Given the description of an element on the screen output the (x, y) to click on. 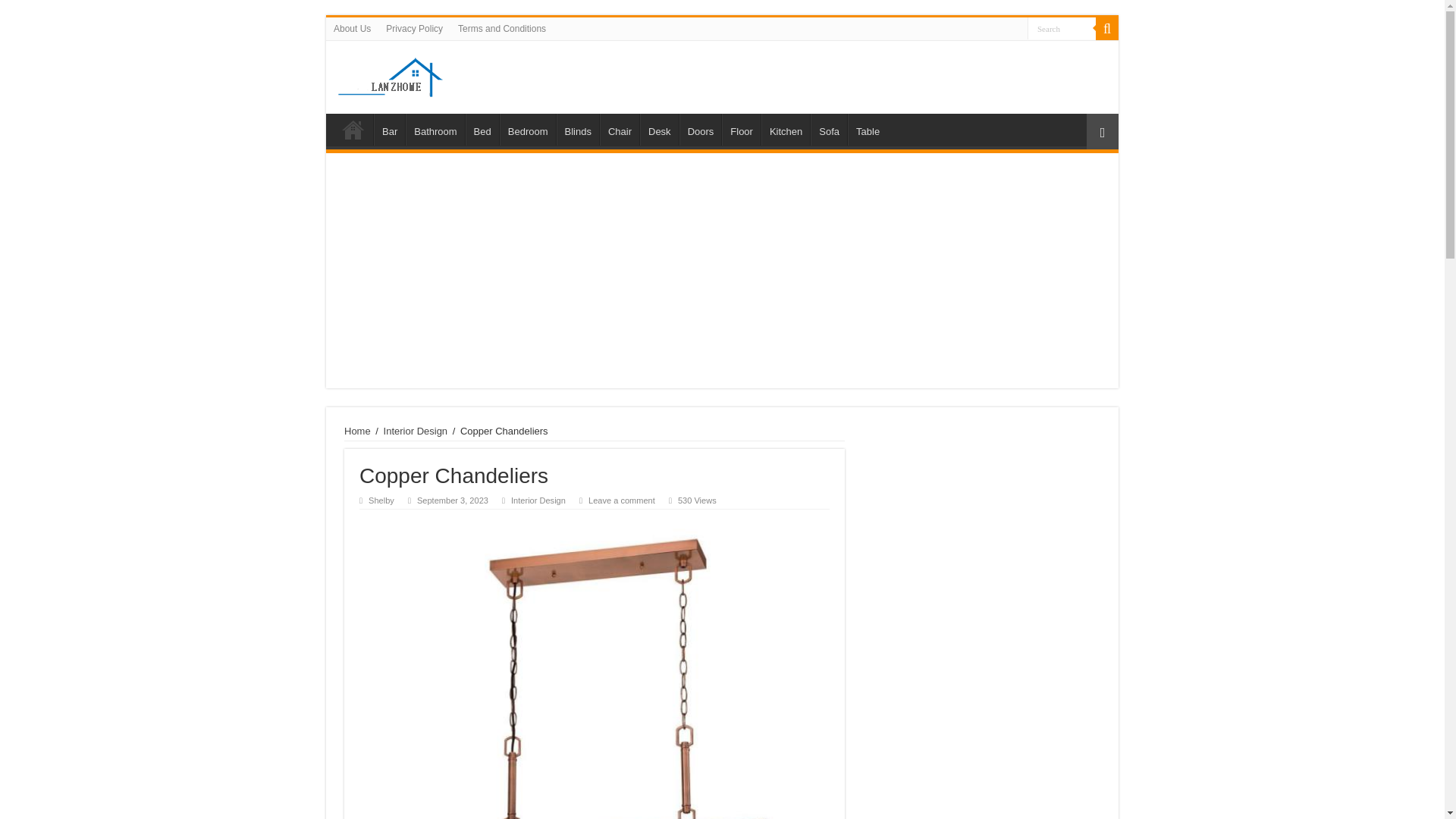
Search (1061, 28)
About Us (352, 28)
Random Article (1102, 131)
Home (352, 129)
Shelby (381, 500)
Terms and Conditions (501, 28)
Bathroom (435, 129)
Bedroom (527, 129)
Desk (659, 129)
